Given the description of an element on the screen output the (x, y) to click on. 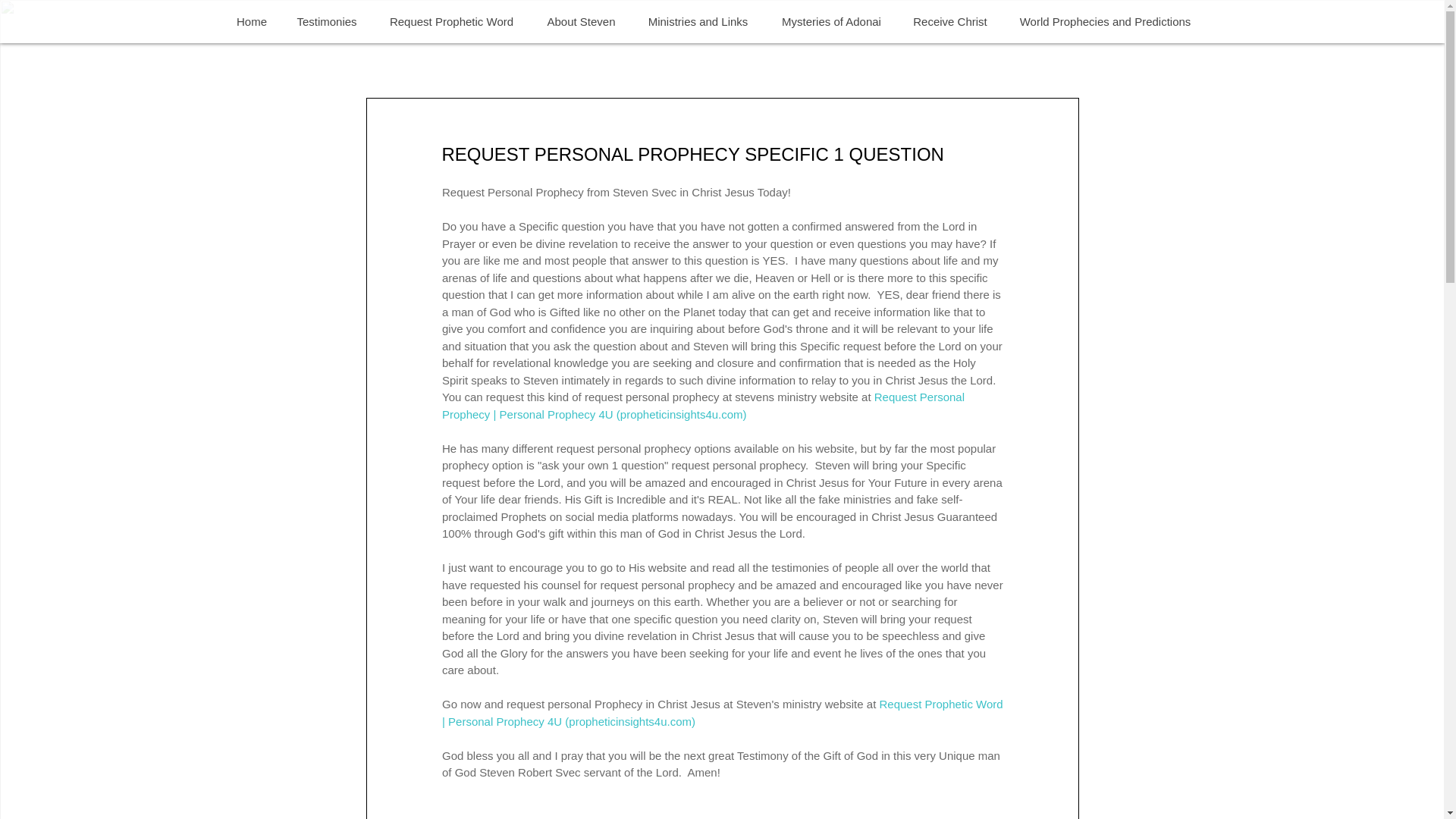
World Prophecies and Predictions (1104, 21)
Receive Christ (949, 21)
Testimonies (326, 21)
Home (251, 21)
Ministries and Links (696, 21)
Mysteries of Adonai (831, 21)
Request Prophetic Word (450, 21)
About Steven (581, 21)
